Given the description of an element on the screen output the (x, y) to click on. 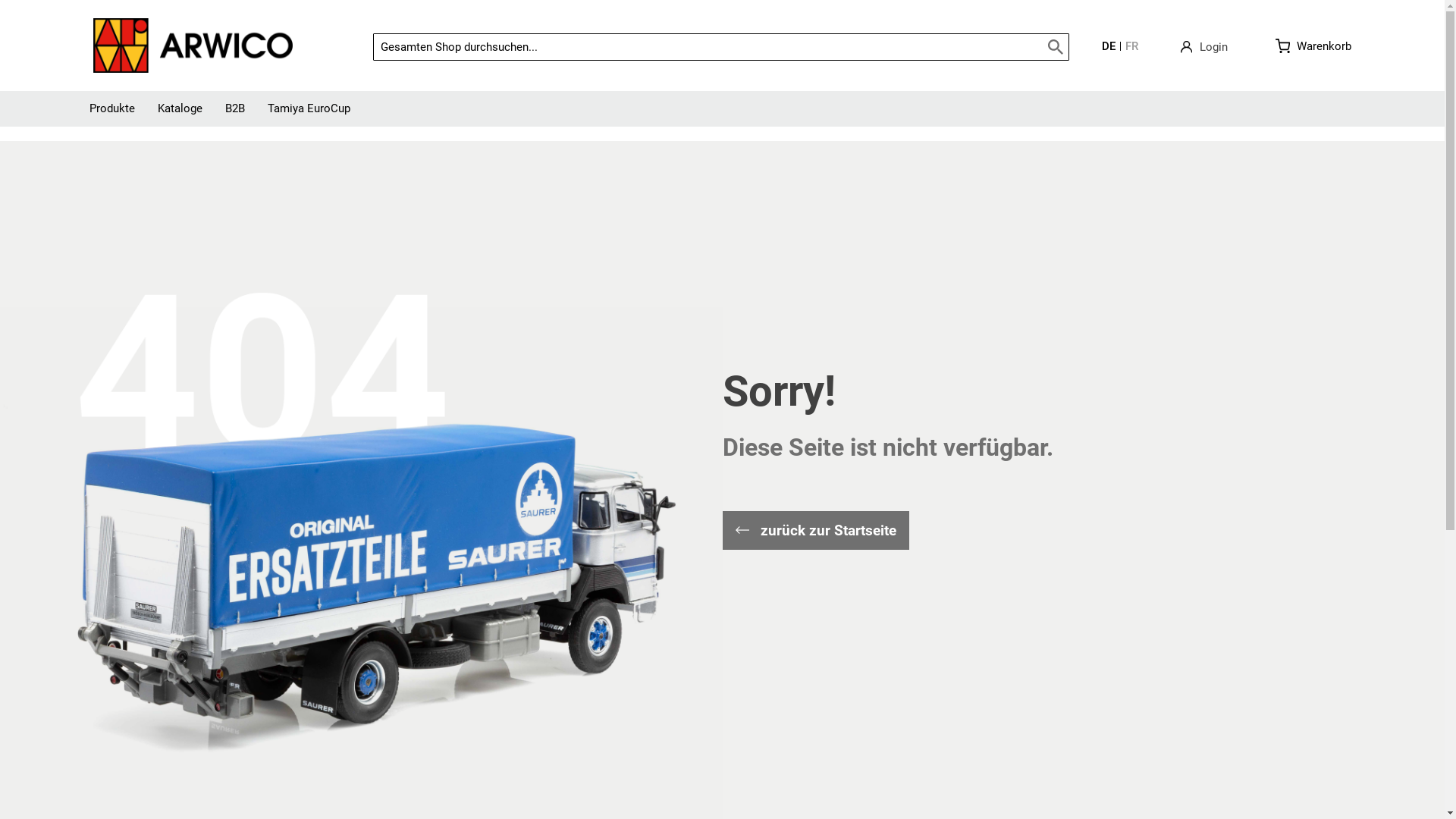
Warenkorb Element type: text (1313, 44)
Kataloge Element type: text (179, 108)
Login Element type: text (1203, 47)
Suche Element type: text (1055, 46)
B2B Element type: text (234, 108)
Tamiya EuroCup Element type: text (308, 108)
Produkte Element type: text (111, 108)
FR Element type: text (1131, 46)
